Given the description of an element on the screen output the (x, y) to click on. 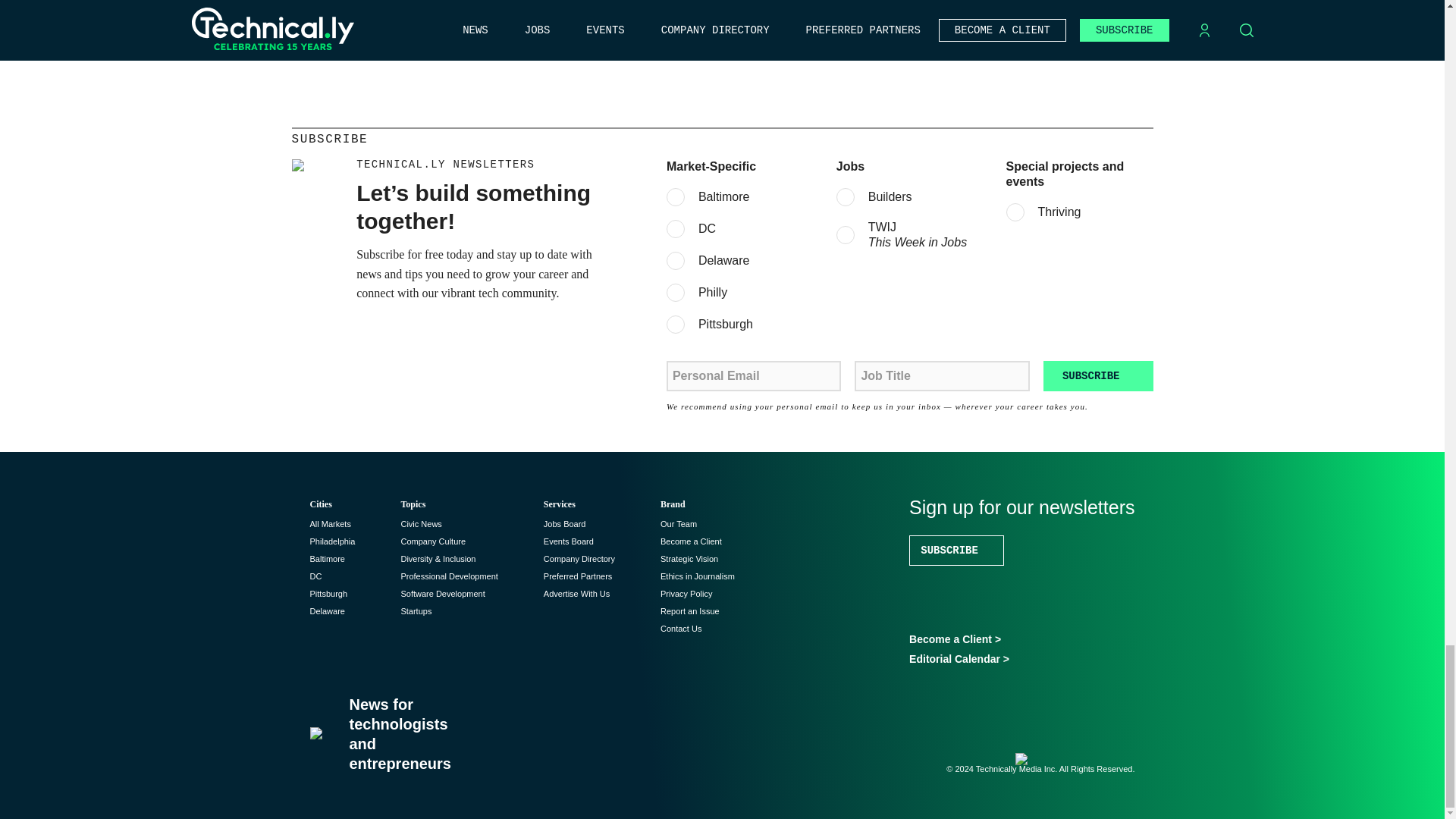
Technically (329, 523)
Technically Philly (331, 541)
